Given the description of an element on the screen output the (x, y) to click on. 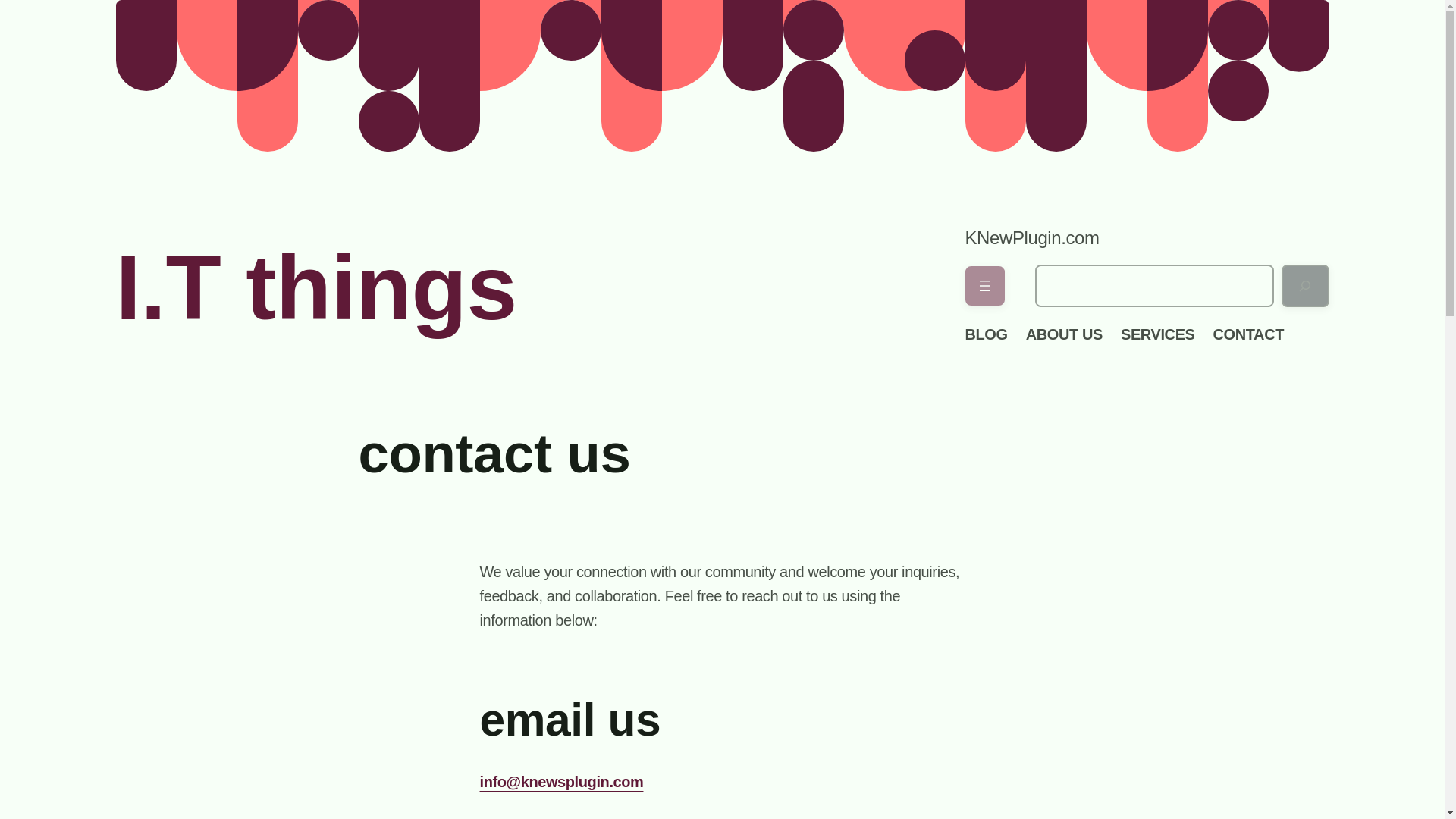
SERVICES (1158, 334)
CONTACT (1248, 334)
ABOUT US (1064, 334)
I.T things (315, 287)
BLOG (985, 334)
